Given the description of an element on the screen output the (x, y) to click on. 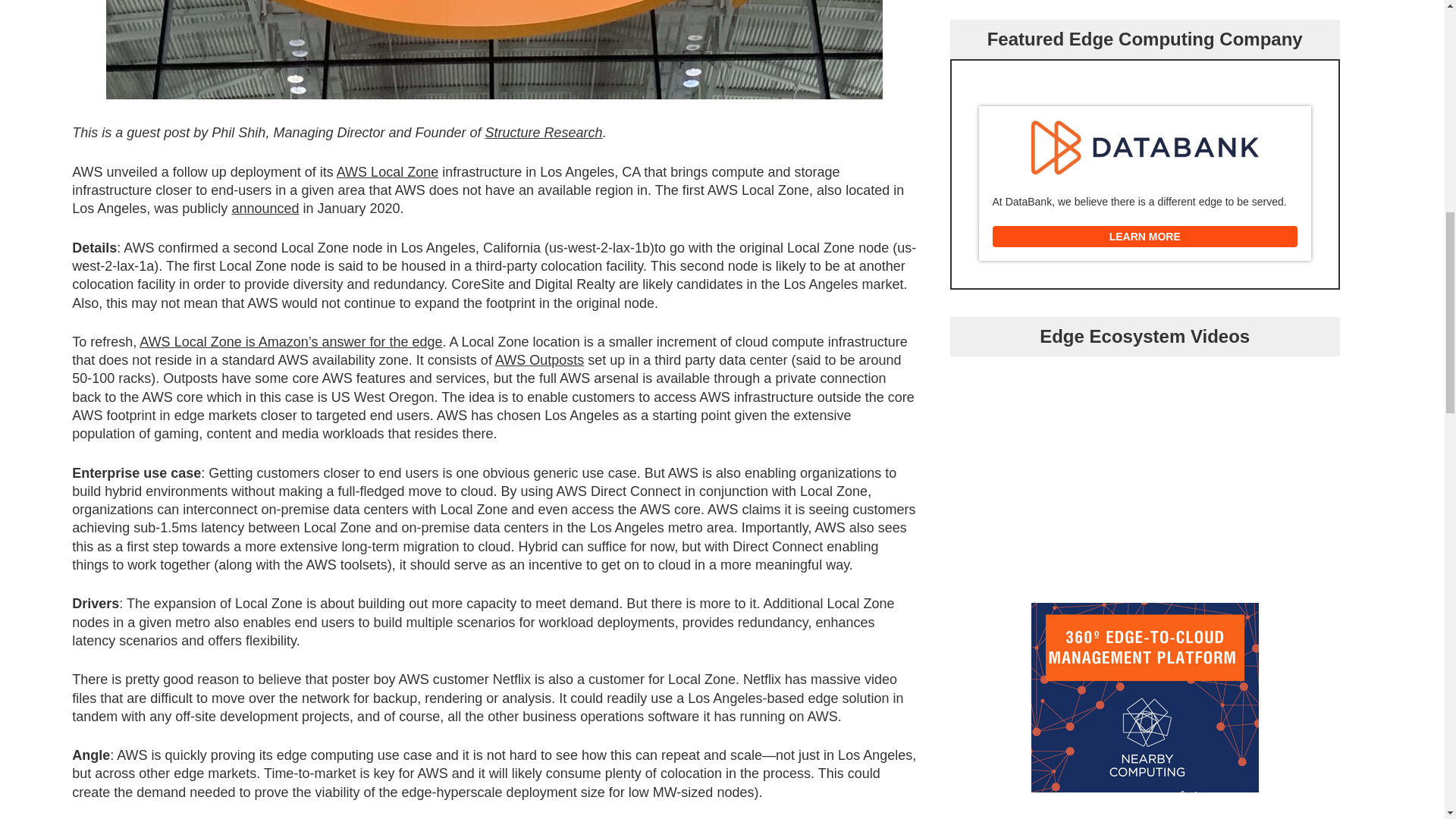
3rd party ad content (1144, 697)
